Given the description of an element on the screen output the (x, y) to click on. 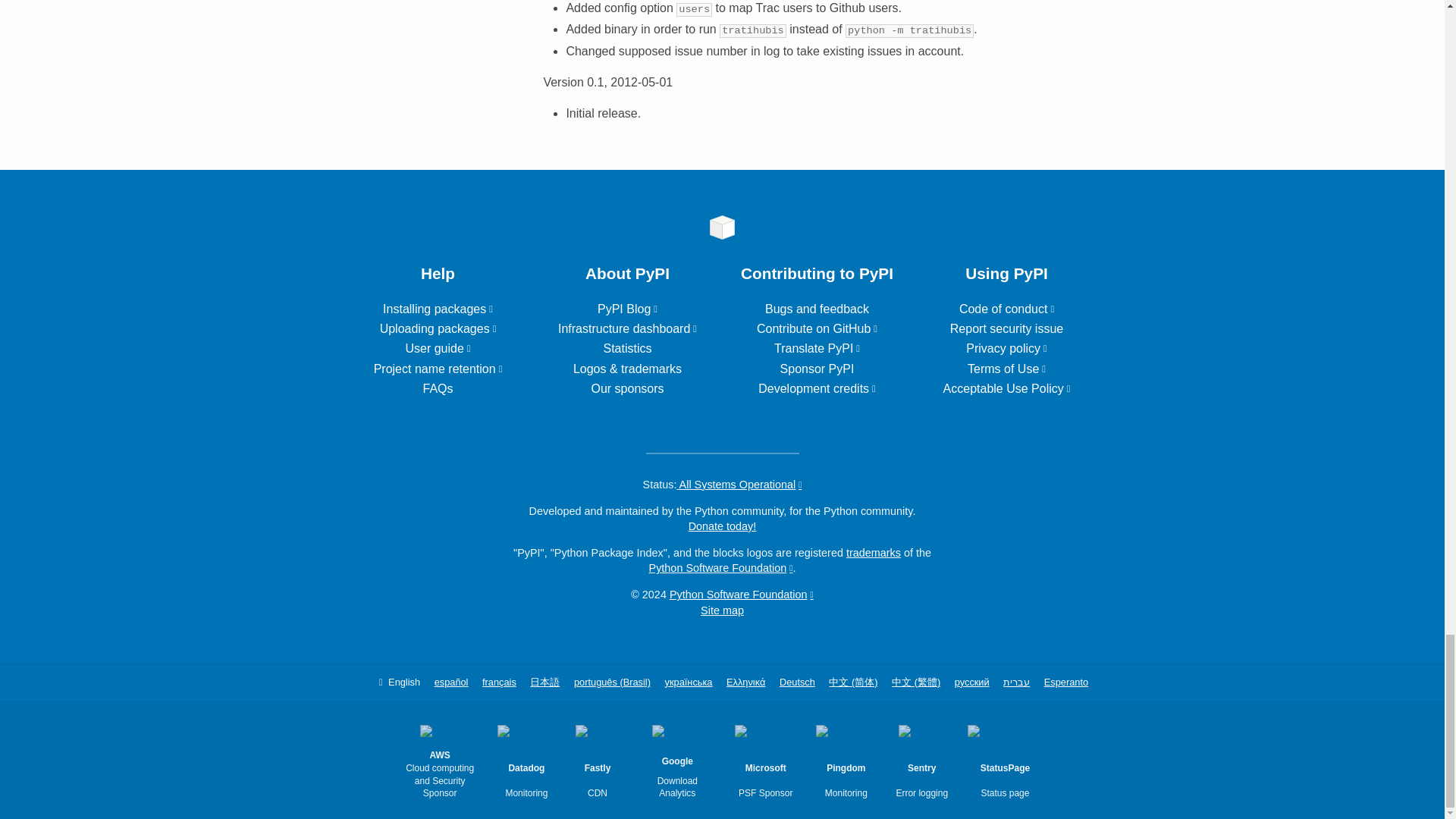
External link (438, 368)
External link (437, 348)
External link (437, 308)
External link (438, 328)
